Given the description of an element on the screen output the (x, y) to click on. 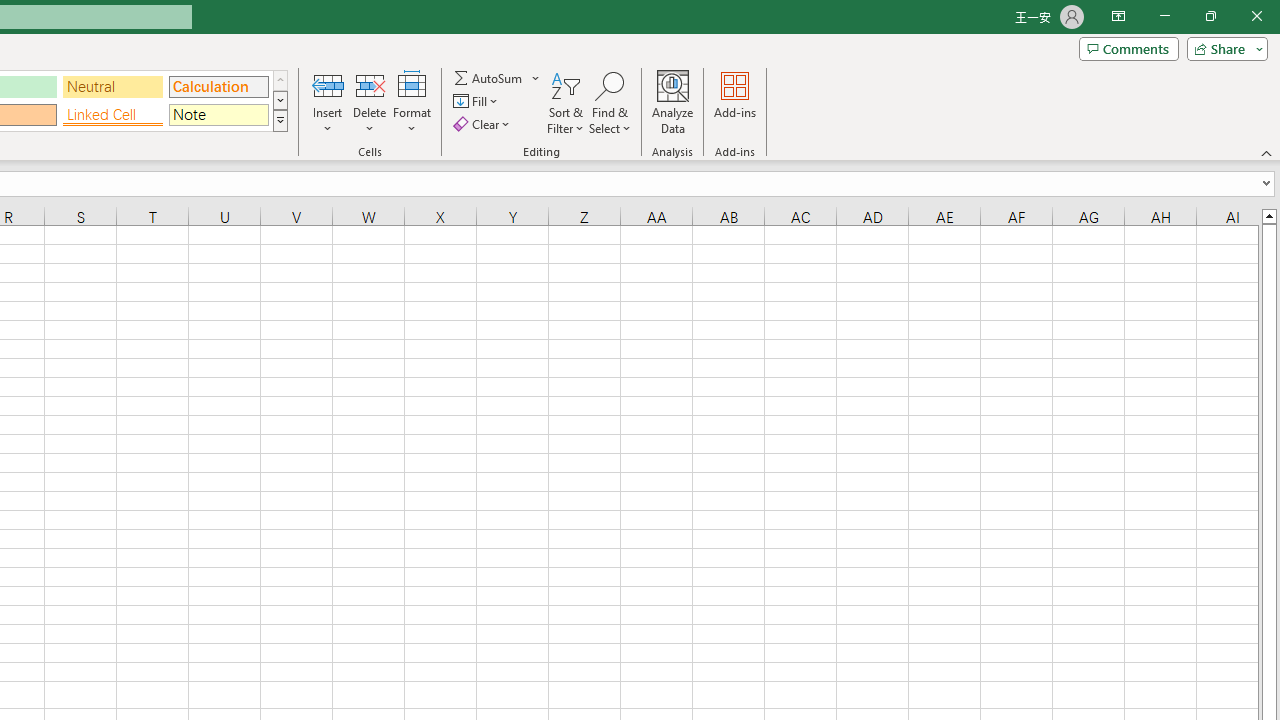
Find & Select (610, 102)
